Given the description of an element on the screen output the (x, y) to click on. 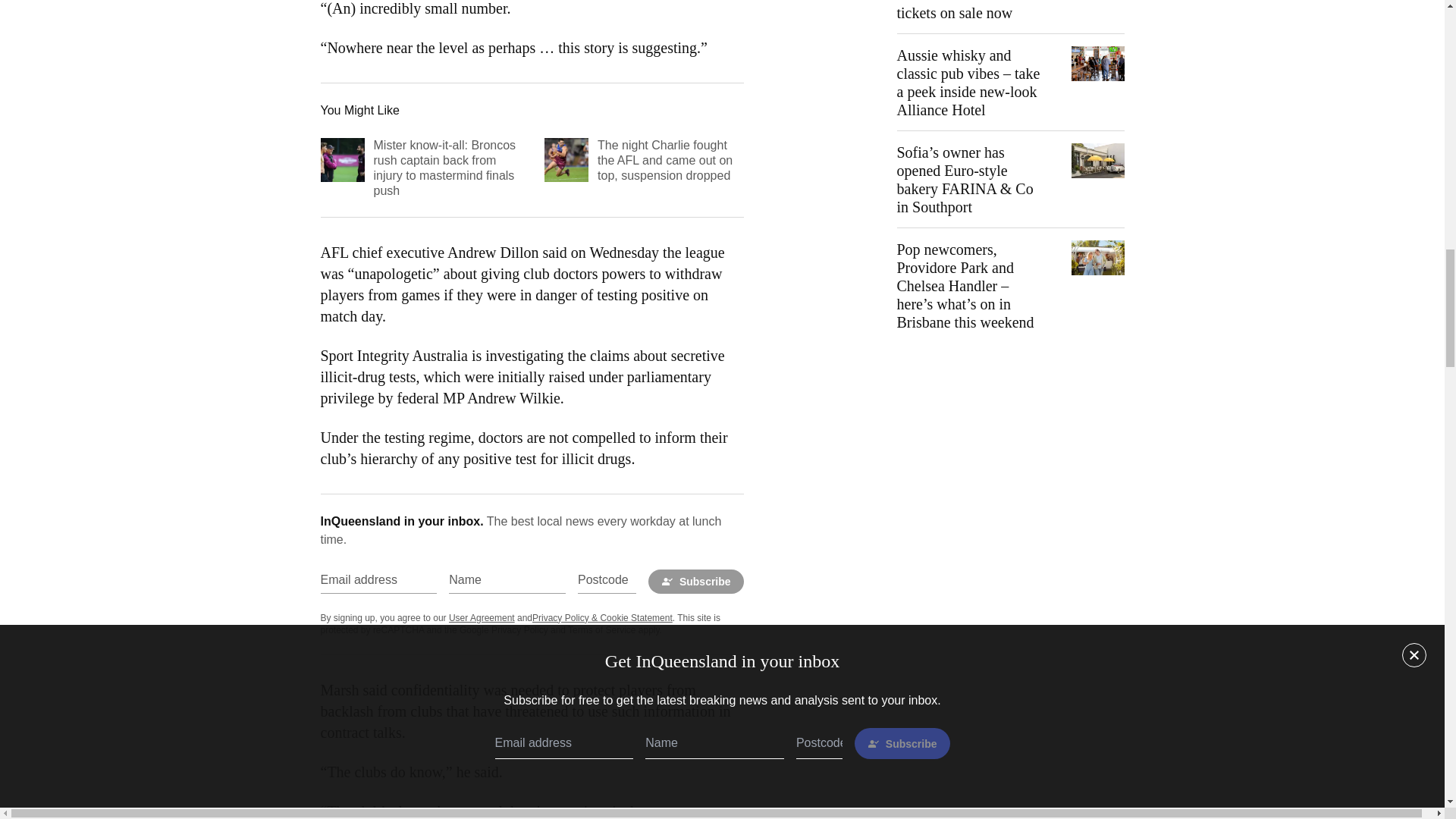
Subscribe (695, 581)
User Agreement (481, 617)
